Given the description of an element on the screen output the (x, y) to click on. 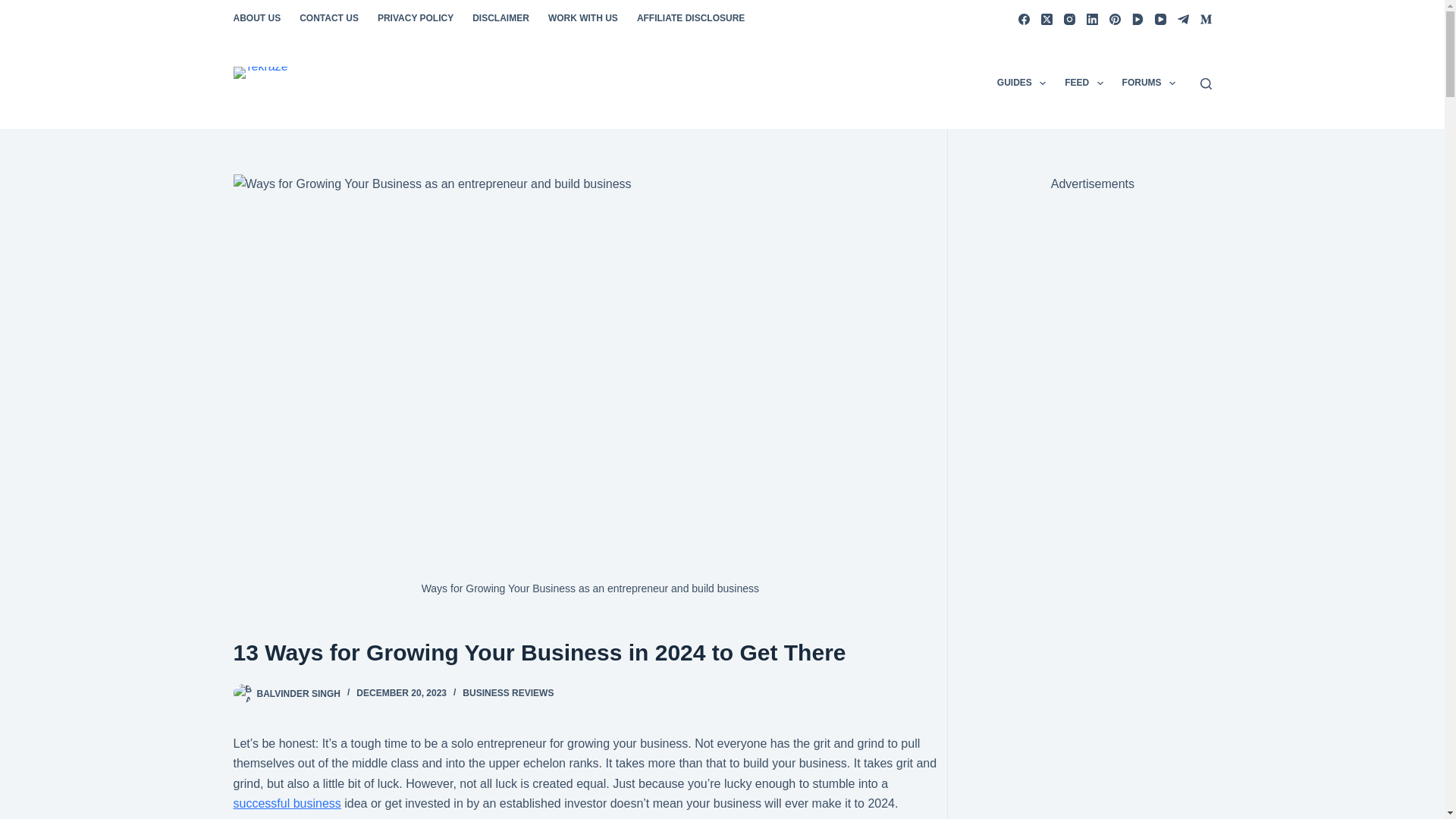
PRIVACY POLICY (415, 18)
CONTACT US (328, 18)
DISCLAIMER (500, 18)
Skip to content (15, 7)
Posts by Balvinder Singh (297, 692)
13 Ways for Growing Your Business in 2024 to Get There (589, 652)
AFFILIATE DISCLOSURE (690, 18)
WORK WITH US (582, 18)
ABOUT US (260, 18)
